Given the description of an element on the screen output the (x, y) to click on. 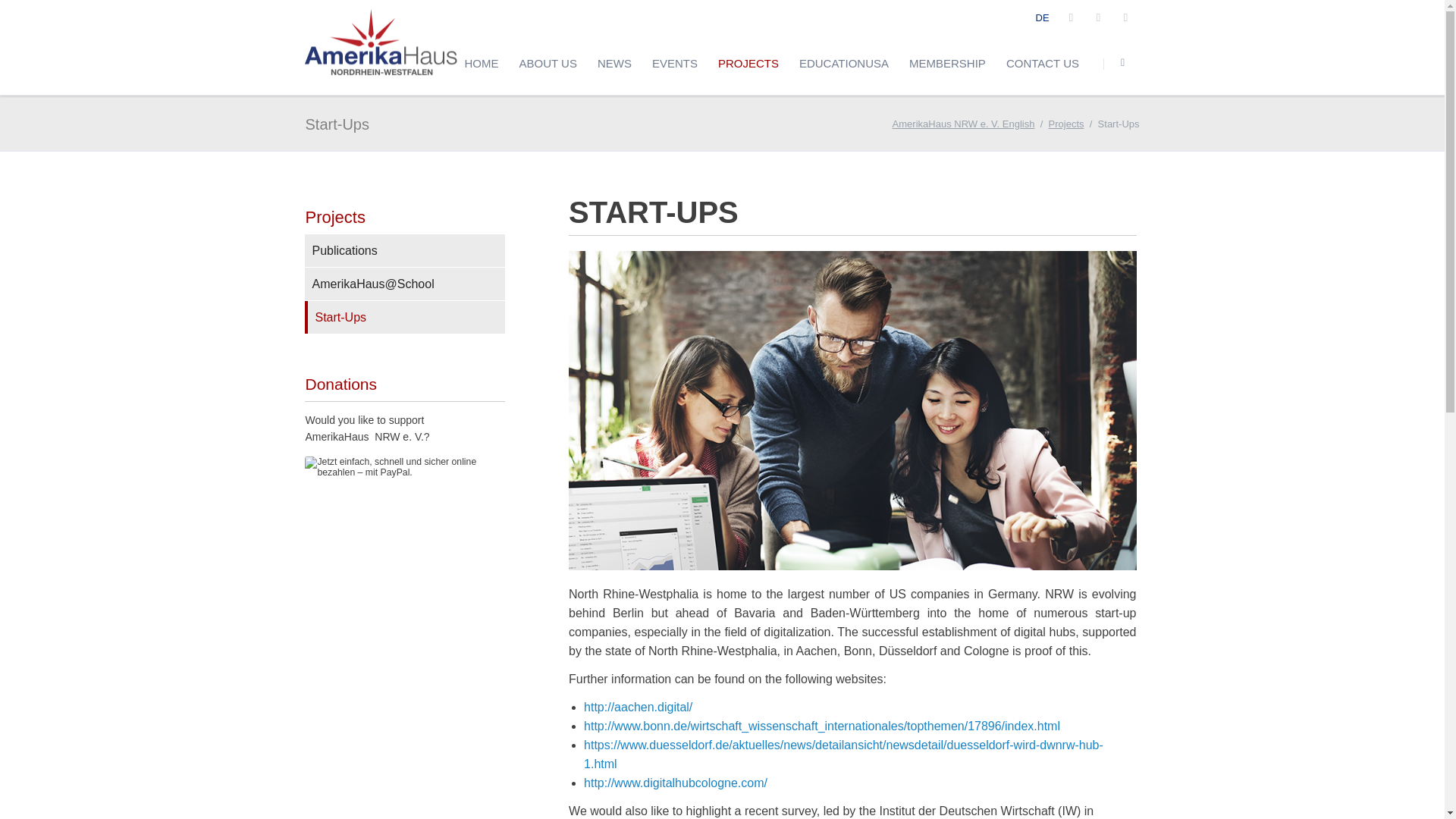
News (614, 63)
Mitgliedschaft (947, 63)
NEWS (614, 63)
CONTACT US (1042, 63)
AmerikaHaus NRW e. V. (1042, 17)
HOME (481, 63)
DE (1042, 17)
Projekte (748, 63)
EVENTS (674, 63)
MEMBERSHIP (947, 63)
Home (481, 63)
PROJECTS (748, 63)
ABOUT US (547, 63)
EducationUSA (843, 63)
SUCHEN (1123, 63)
